Given the description of an element on the screen output the (x, y) to click on. 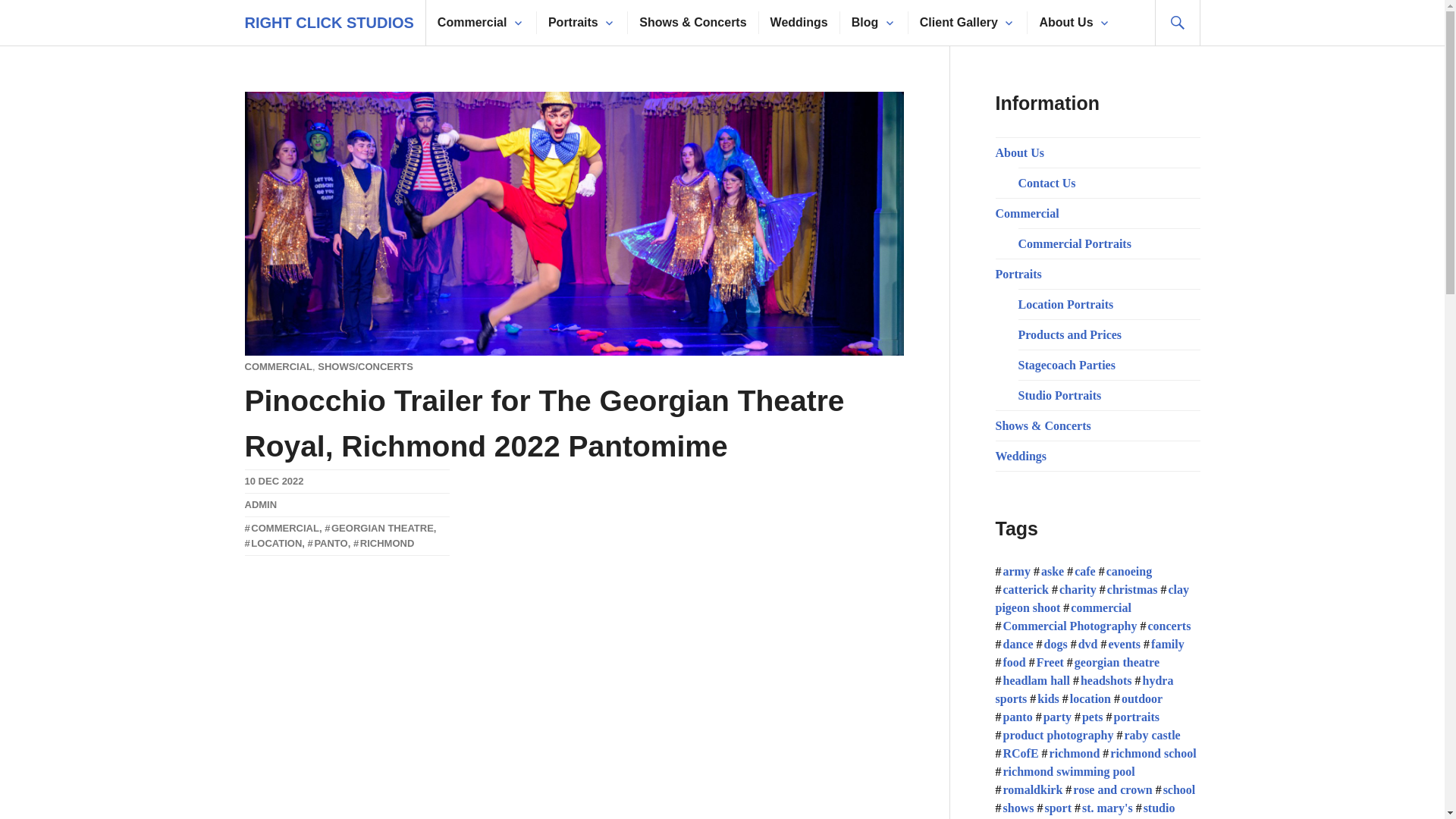
SEARCH (1176, 22)
About Us (1066, 22)
Weddings (799, 22)
GEORGIAN THEATRE (378, 527)
ADMIN (260, 504)
LOCATION (272, 542)
RIGHT CLICK STUDIOS (328, 22)
Commercial (472, 22)
Blog (865, 22)
